Given the description of an element on the screen output the (x, y) to click on. 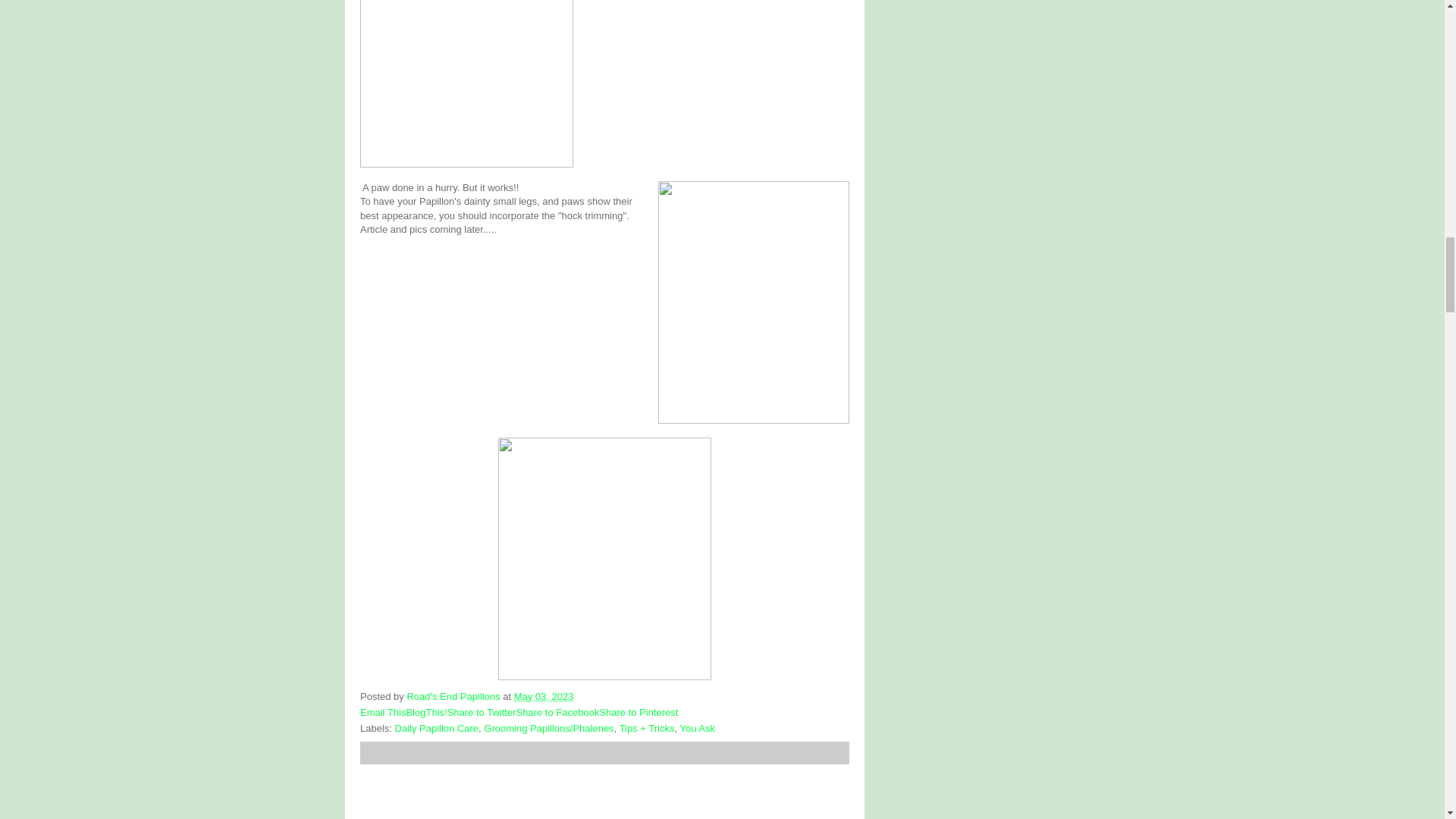
Email This (382, 712)
Share to Pinterest (638, 712)
Advertisement (473, 791)
Email This (382, 712)
May 03, 2023 (543, 696)
Share to Twitter (481, 712)
permanent link (543, 696)
Share to Facebook (556, 712)
You Ask (696, 727)
Share to Facebook (556, 712)
author profile (454, 696)
BlogThis! (426, 712)
Share to Pinterest (638, 712)
Road's End Papillons (454, 696)
Share to Twitter (481, 712)
